Given the description of an element on the screen output the (x, y) to click on. 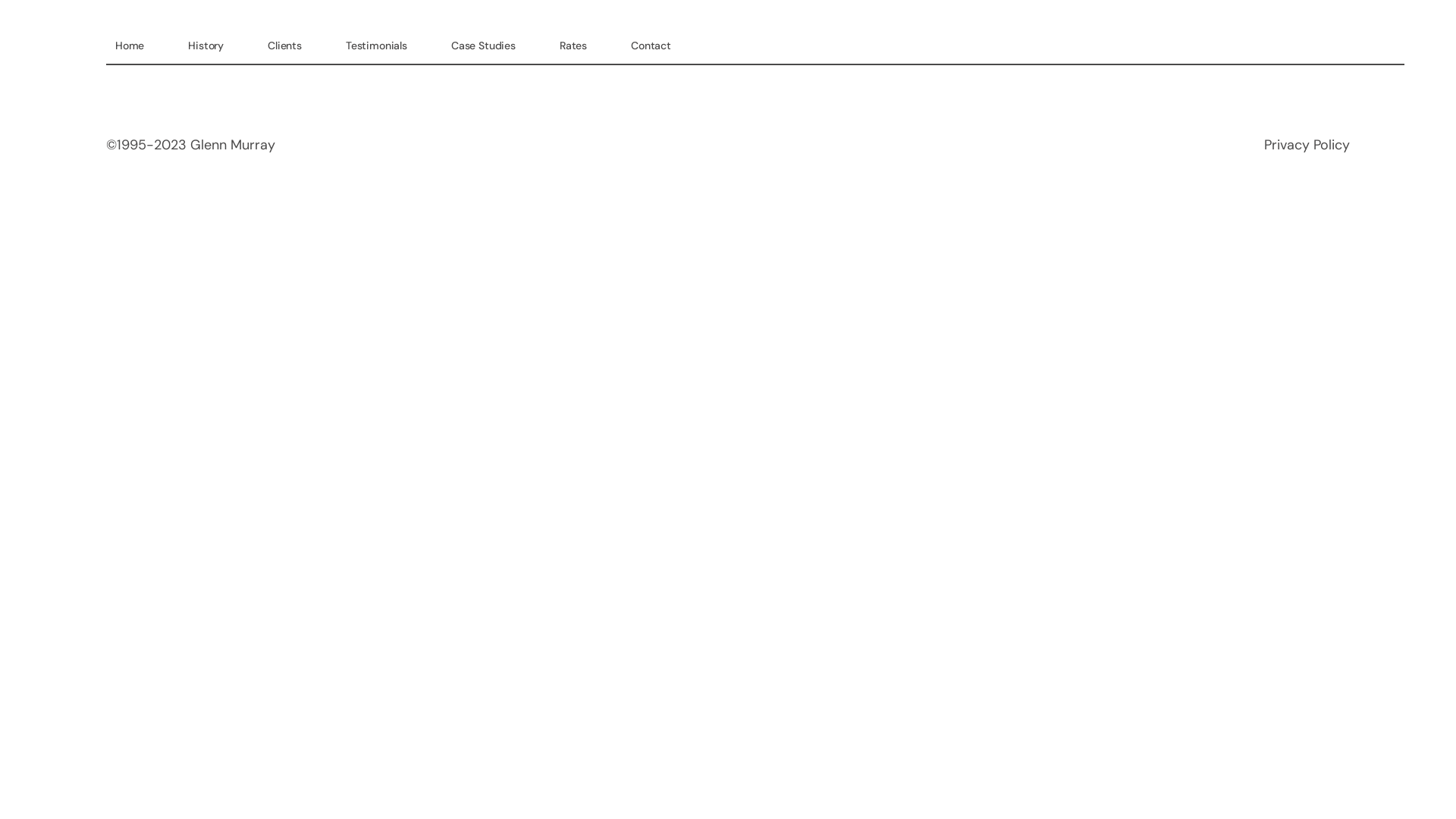
History Element type: text (205, 45)
Clients Element type: text (284, 45)
Home Element type: text (129, 45)
Rates Element type: text (572, 45)
Privacy Policy Element type: text (1306, 144)
Testimonials Element type: text (376, 45)
Contact Element type: text (650, 45)
Case Studies Element type: text (483, 45)
